Given the description of an element on the screen output the (x, y) to click on. 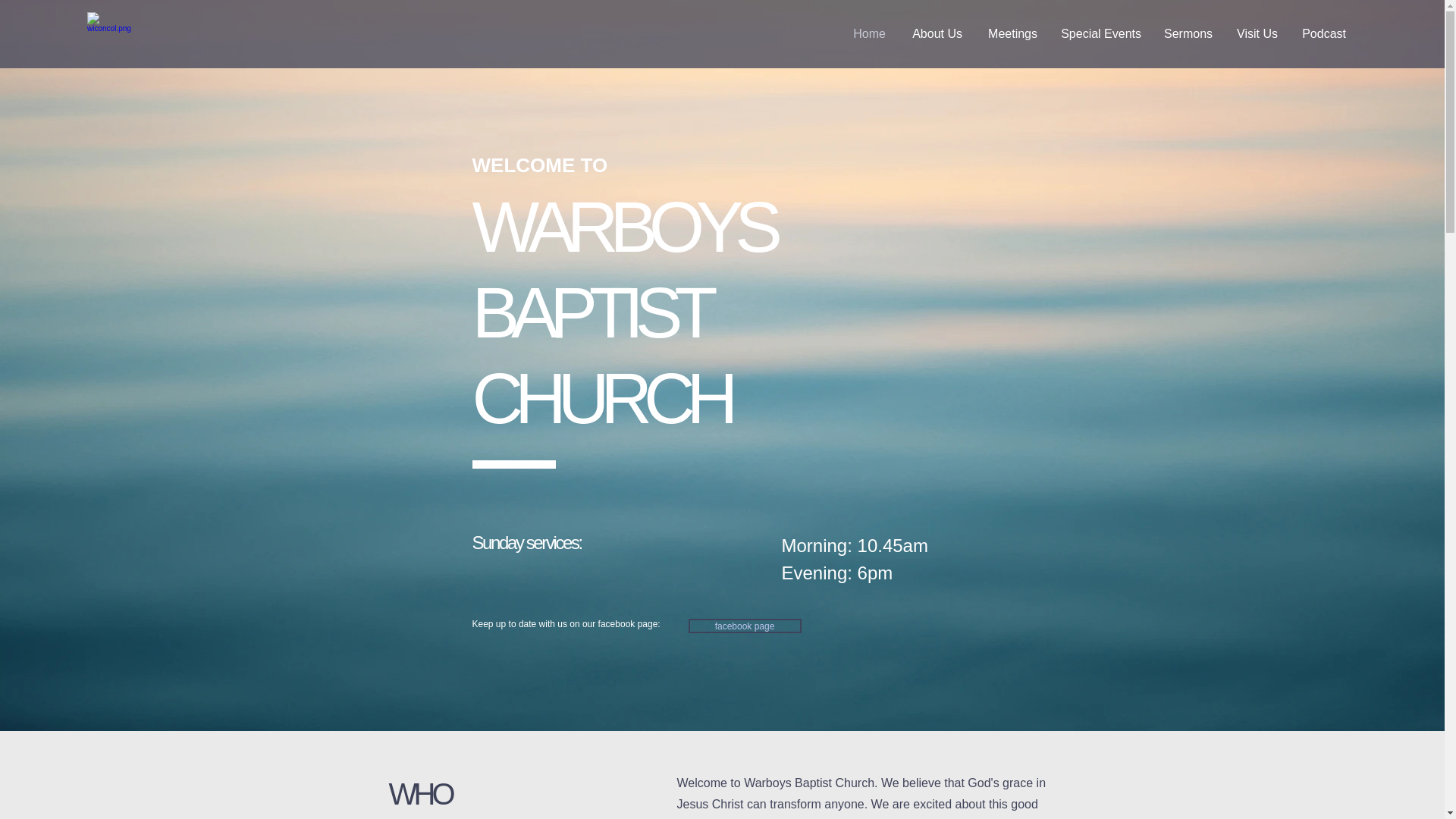
About Us (935, 34)
Home (868, 34)
Sermons (1188, 34)
facebook page (745, 626)
Podcast (1322, 34)
Meetings (1011, 34)
Visit Us (1256, 34)
Special Events (1100, 34)
